Given the description of an element on the screen output the (x, y) to click on. 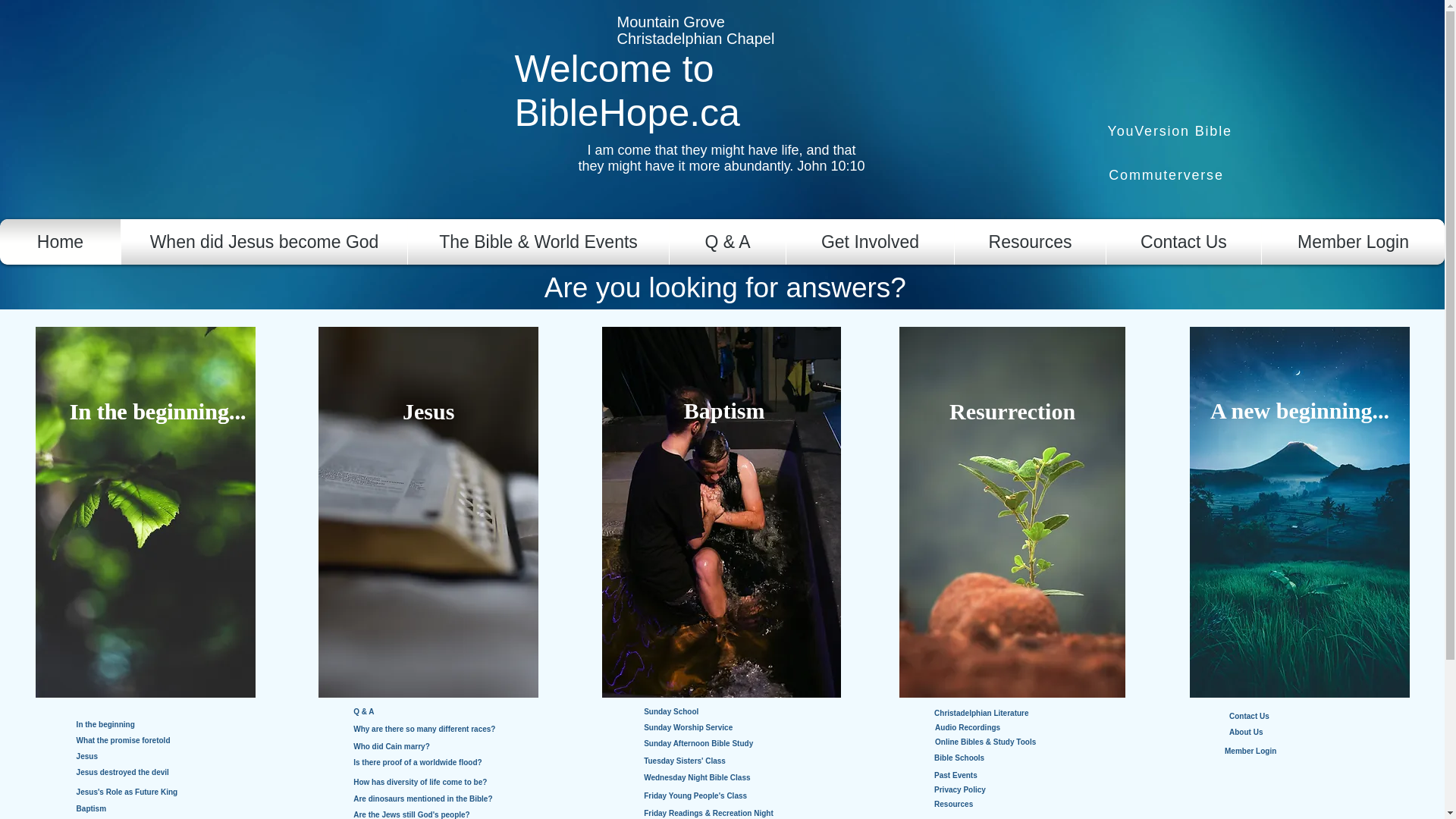
Resources (1030, 241)
Why are there so many different races? (456, 729)
YouVersion Bible (1170, 130)
Jesus's Role as Future King (142, 791)
Jesus (427, 411)
Jesus destroyed the devil (136, 772)
Member Login (1353, 241)
In the beginning... (158, 411)
Contact Us (1183, 241)
Home (60, 241)
Baptism (130, 808)
When did Jesus become God (264, 241)
In the beginning (130, 724)
Commuterverse (1166, 174)
Get Involved (870, 241)
